Given the description of an element on the screen output the (x, y) to click on. 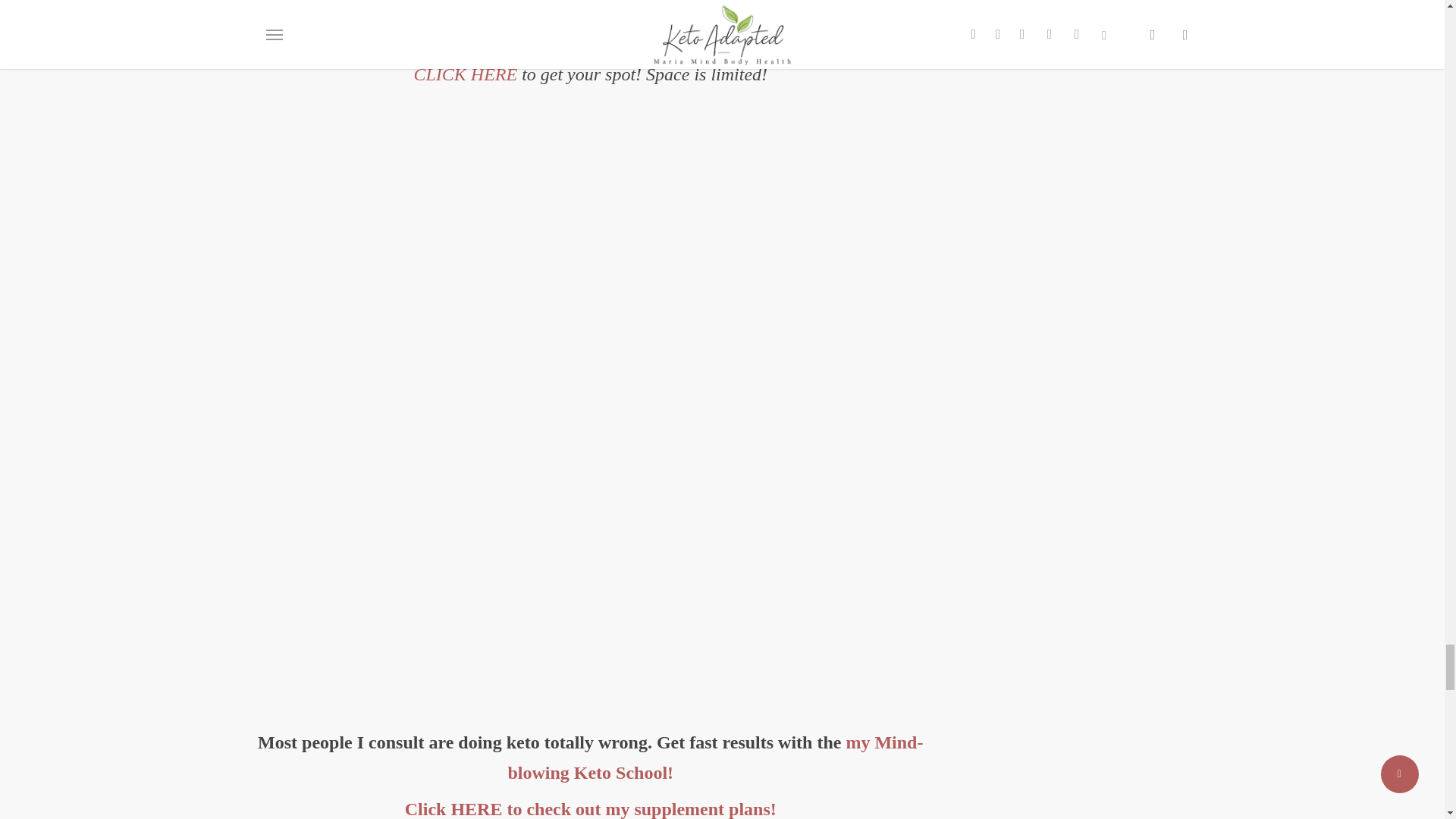
CLICK HERE (464, 74)
Click HERE to check out my supplement plans! (590, 809)
my Mind-blowing Keto School! (714, 757)
